Given the description of an element on the screen output the (x, y) to click on. 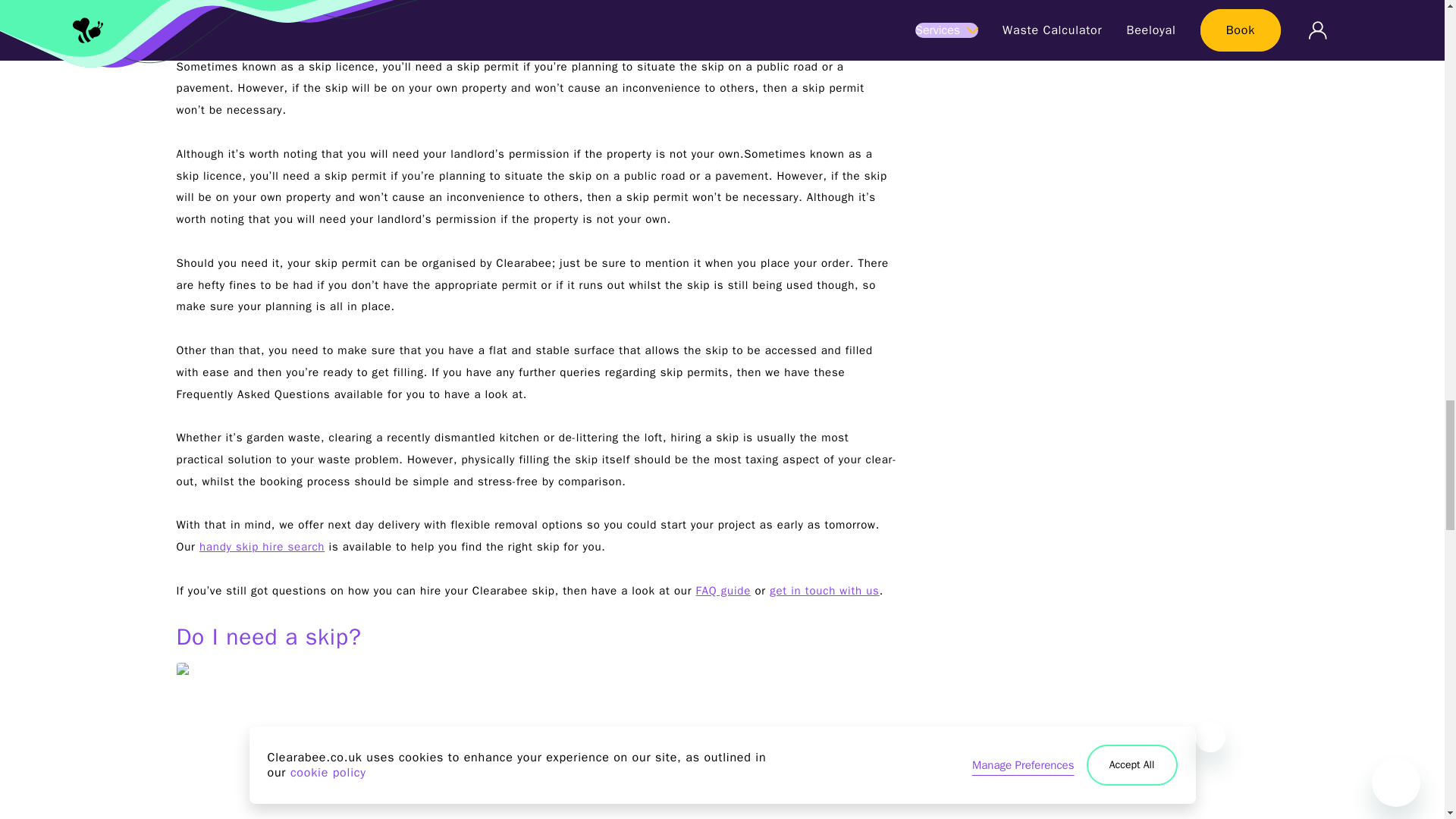
handy skip hire search (261, 546)
FAQ guide (723, 590)
get in touch with us (824, 590)
